Given the description of an element on the screen output the (x, y) to click on. 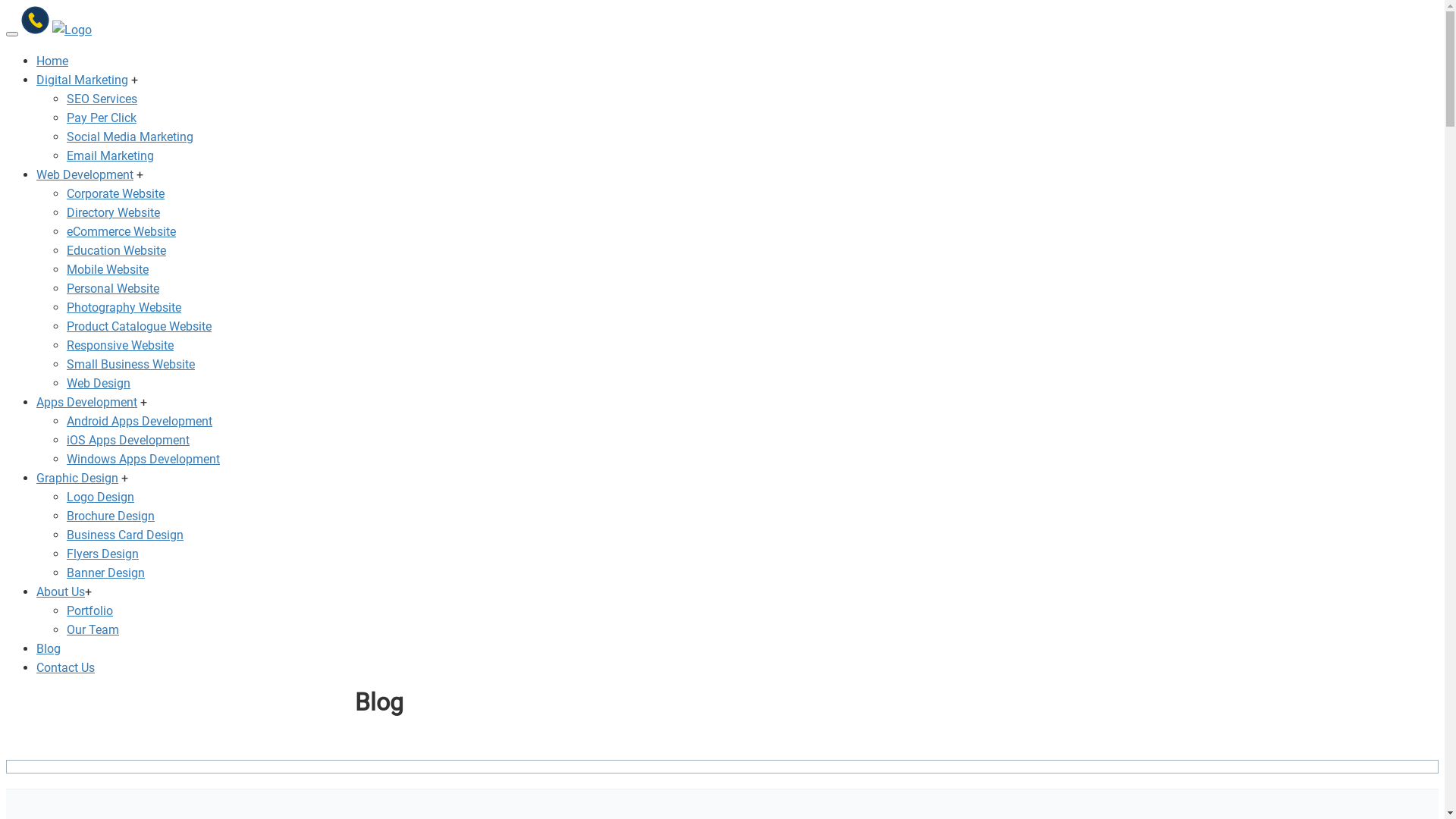
Personal Website Element type: text (112, 288)
Brochure Design Element type: text (110, 515)
eCommerce Website Element type: text (120, 231)
Business Card Design Element type: text (124, 534)
Education Website Element type: text (116, 250)
Responsive Website Element type: text (119, 345)
Web Design Element type: text (98, 383)
Windows Apps Development Element type: text (142, 458)
Logo Element type: hover (71, 29)
Web Development Element type: text (84, 174)
Portfolio Element type: text (89, 610)
Home Element type: text (52, 60)
Flyers Design Element type: text (102, 553)
Android Apps Development Element type: text (139, 421)
Phone Number Element type: hover (35, 20)
Directory Website Element type: text (113, 212)
Email Marketing Element type: text (109, 155)
Corporate Website Element type: text (115, 193)
Small Business Website Element type: text (130, 364)
Pay Per Click Element type: text (101, 117)
SEO Services Element type: text (101, 98)
Digital Marketing Element type: text (82, 79)
Contact Us Element type: text (65, 667)
Mobile Website Element type: text (107, 269)
Logo Design Element type: text (100, 496)
Banner Design Element type: text (105, 572)
Photography Website Element type: text (123, 307)
Apps Development Element type: text (86, 402)
Product Catalogue Website Element type: text (138, 326)
Our Team Element type: text (92, 629)
About Us Element type: text (60, 591)
iOS Apps Development Element type: text (127, 440)
Blog Element type: text (48, 648)
Social Media Marketing Element type: text (129, 136)
Graphic Design Element type: text (77, 477)
